Given the description of an element on the screen output the (x, y) to click on. 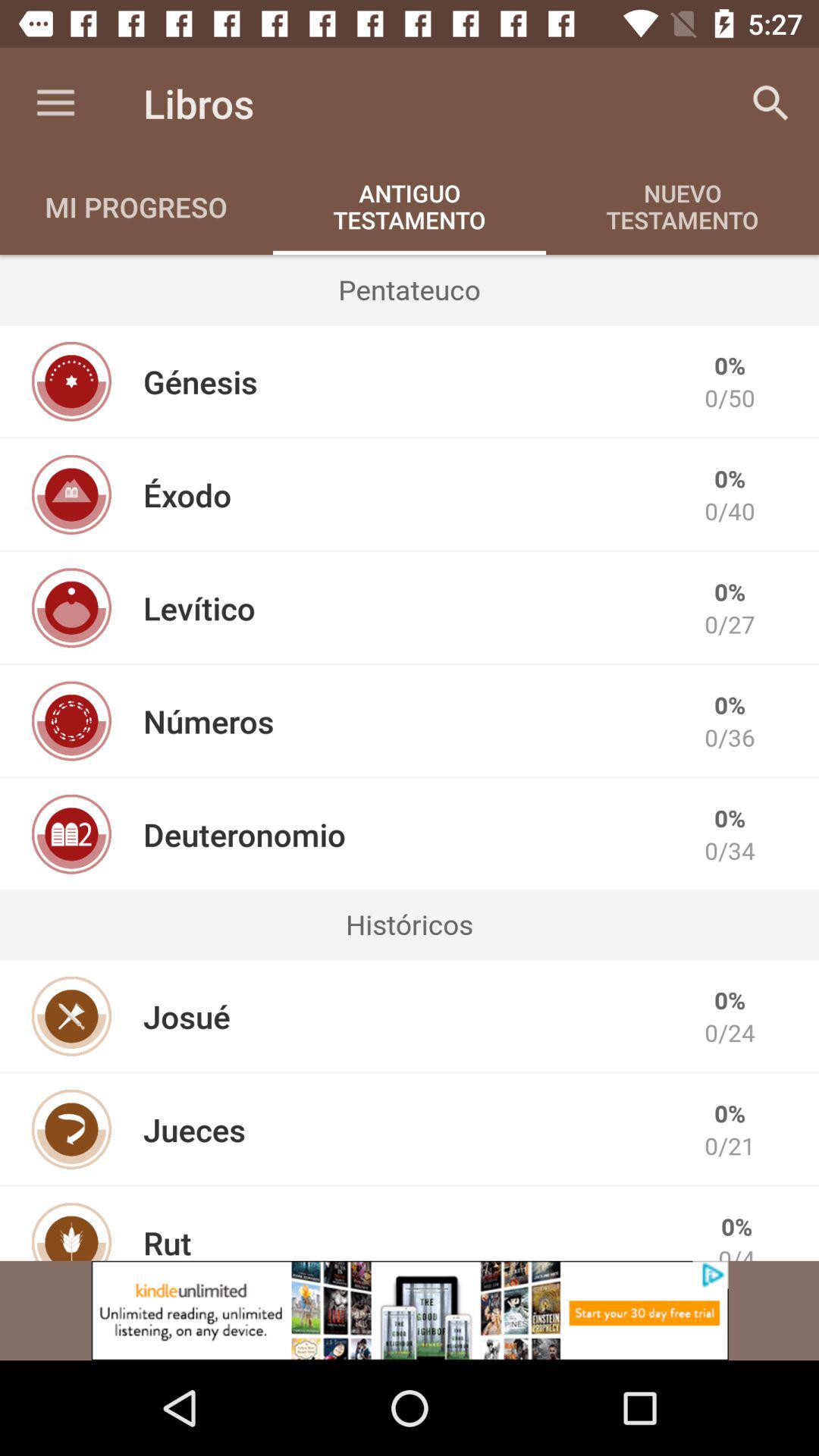
turn off the icon below antiguo testamento icon (409, 289)
